Given the description of an element on the screen output the (x, y) to click on. 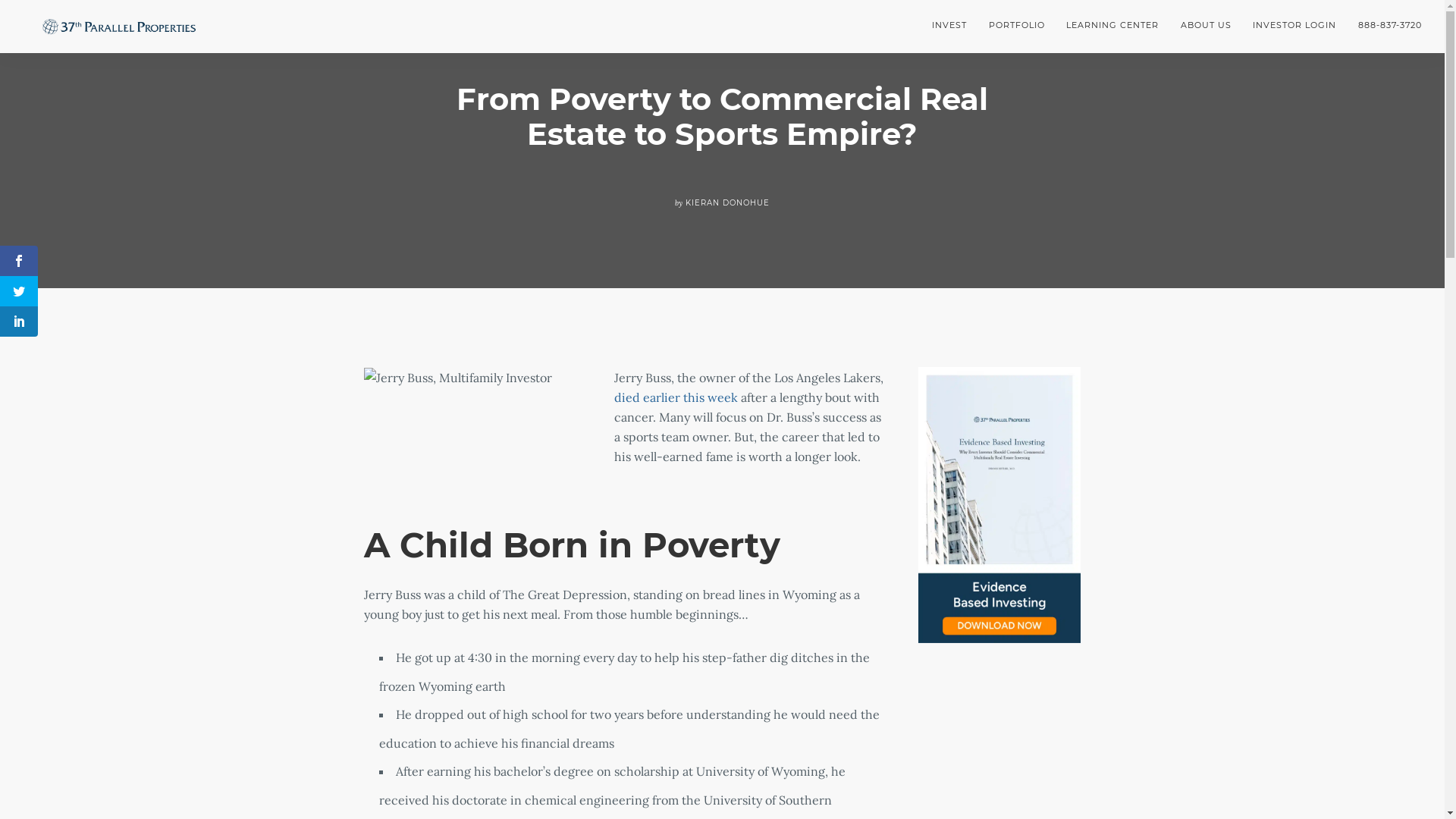
888-837-3720 Element type: text (1384, 25)
died earlier this week Element type: text (675, 396)
PORTFOLIO Element type: text (1016, 25)
INVEST Element type: text (954, 25)
LEARNING CENTER Element type: text (1112, 25)
ABOUT US Element type: text (1206, 25)
INVESTOR LOGIN Element type: text (1294, 25)
